Given the description of an element on the screen output the (x, y) to click on. 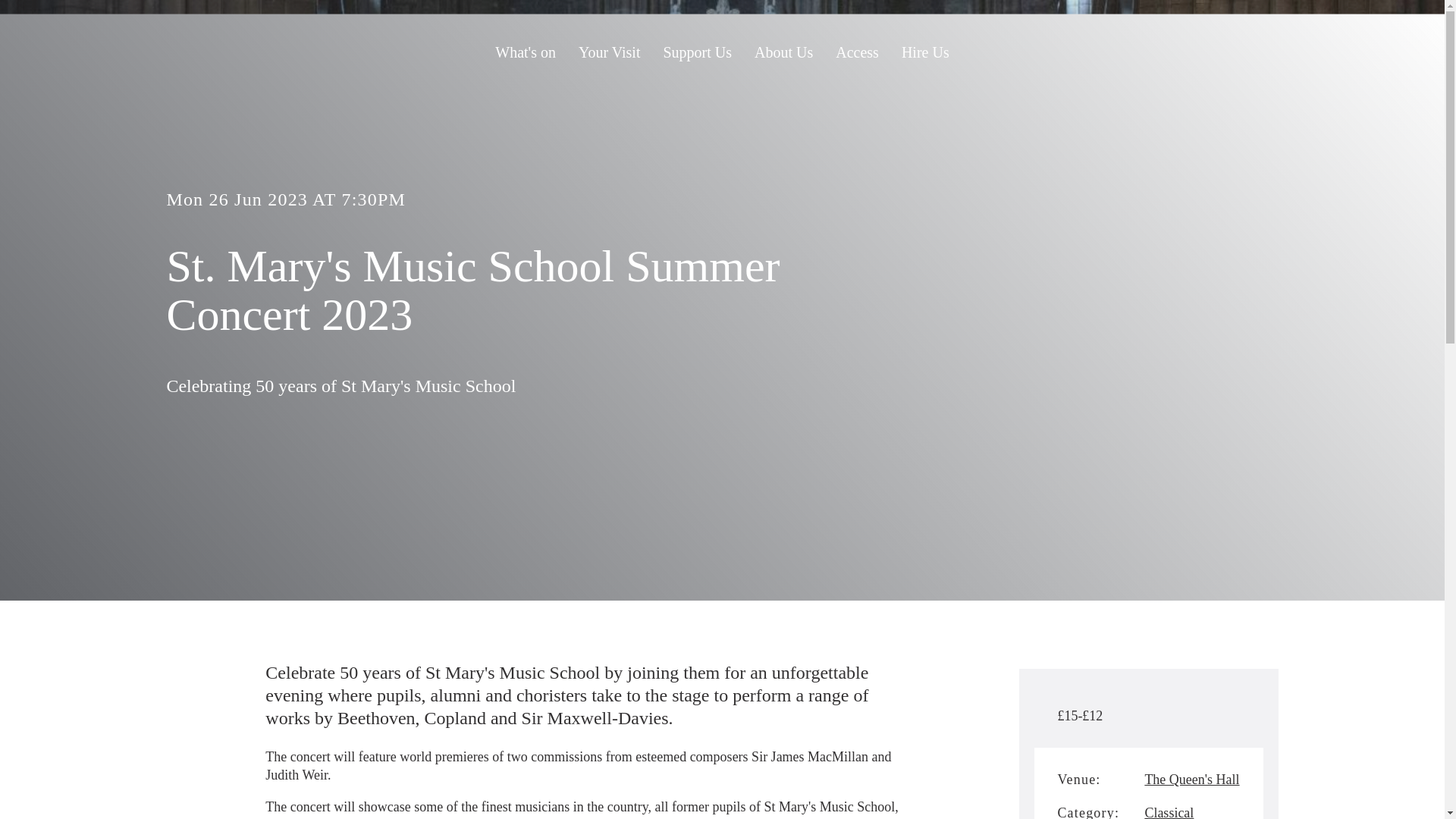
The Queen's Hall (268, 49)
View all Classical events (1168, 811)
View venue info (1191, 780)
The Queen's Hall (1191, 780)
Home (268, 49)
Classical (1168, 811)
